Given the description of an element on the screen output the (x, y) to click on. 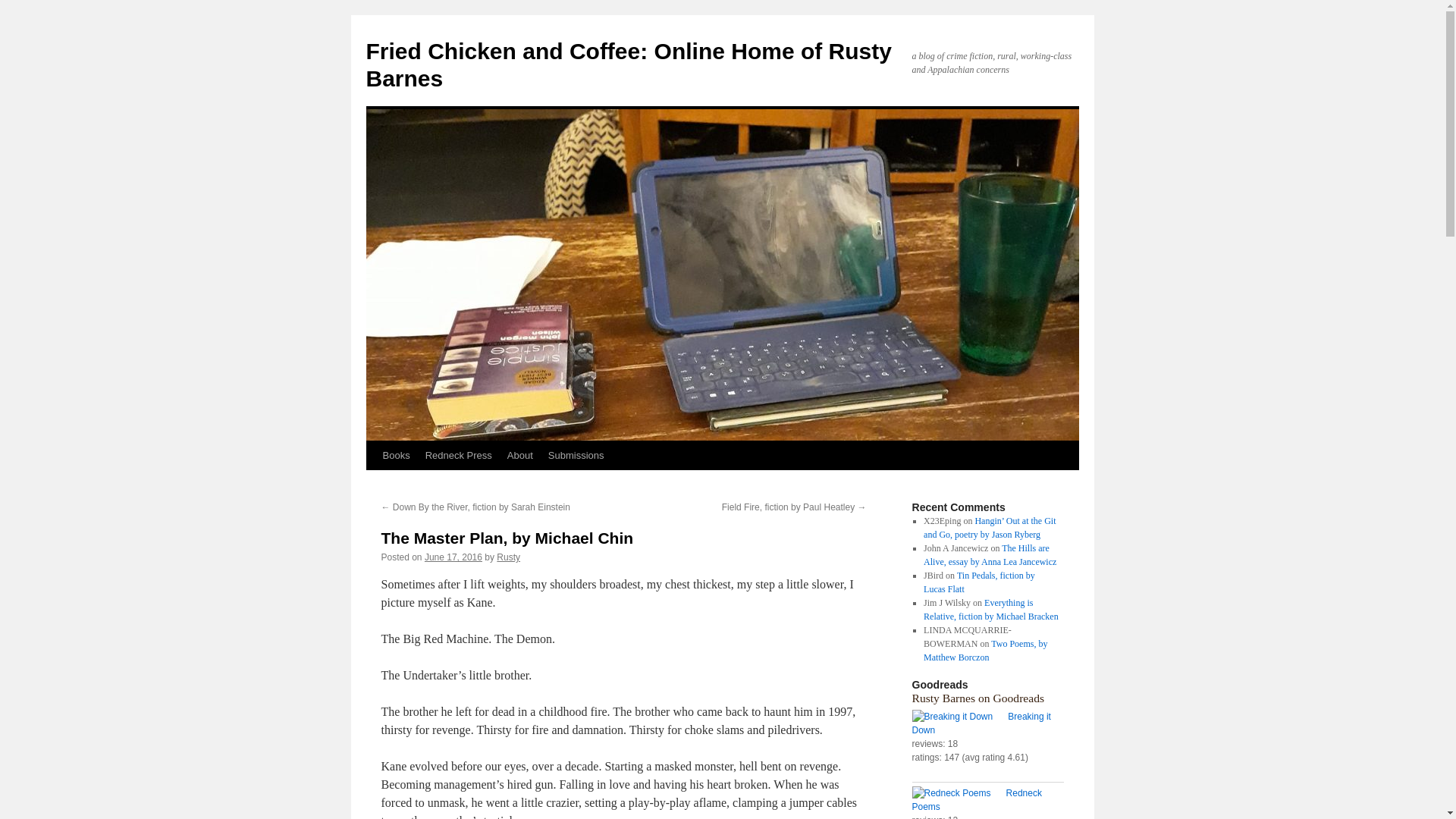
Skip to content (372, 483)
Breaking it Down (959, 716)
June 17, 2016 (453, 557)
About (519, 455)
View all posts by Rusty (507, 557)
Submissions (575, 455)
9:00 am (453, 557)
Rusty (507, 557)
Redneck Press (458, 455)
Fried Chicken and Coffee: Online Home of Rusty Barnes (628, 64)
Redneck Poems (958, 793)
Books (395, 455)
